Given the description of an element on the screen output the (x, y) to click on. 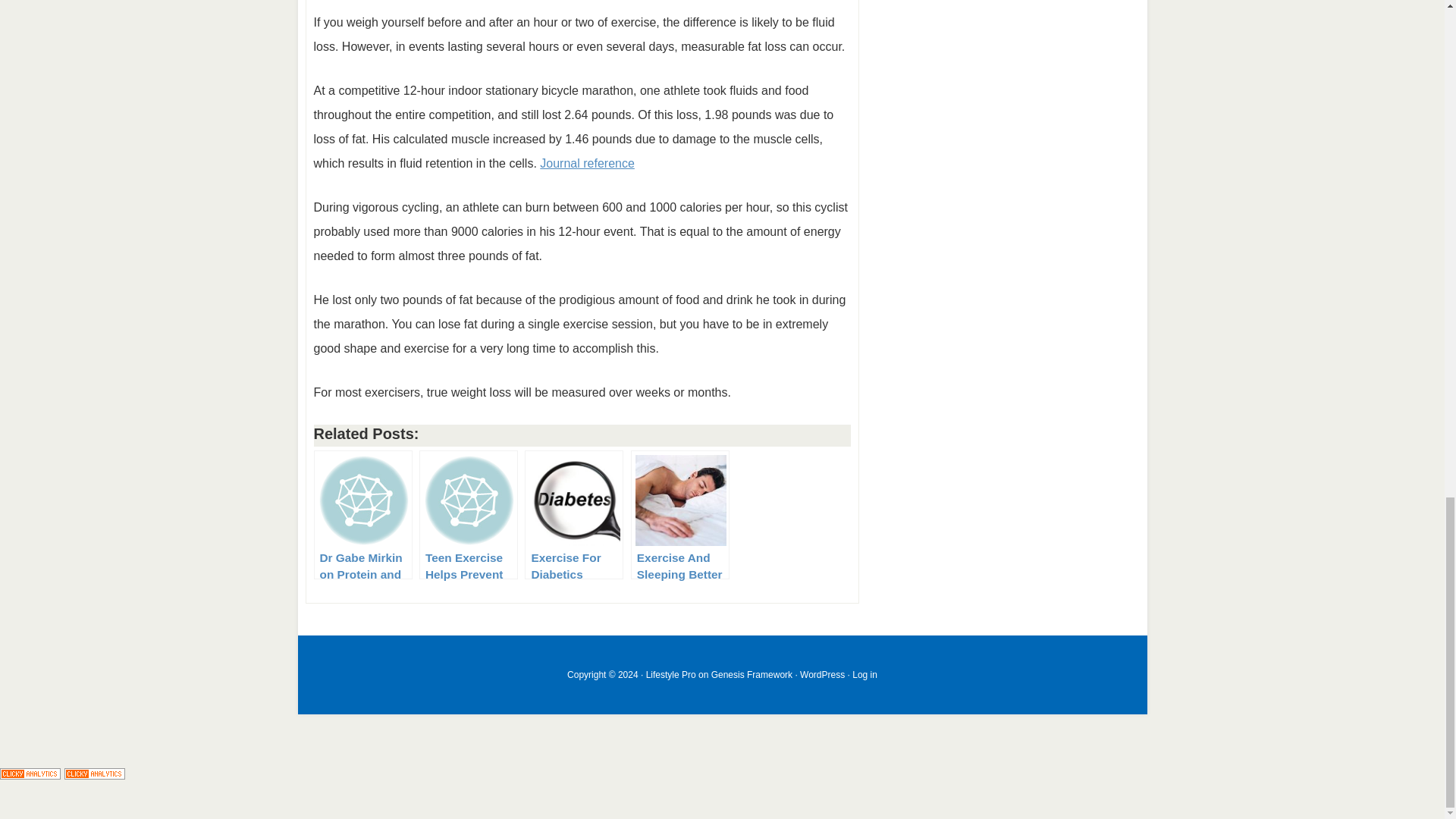
Web Statistics (94, 774)
Teen Exercise Helps Prevent Mind Problems Later in Life (468, 514)
GDPR-compliant Web Analytics (30, 774)
Dr Gabe Mirkin on Protein and exercise (363, 514)
Exercise For Diabetics (573, 514)
Exercise And Sleeping Better (679, 514)
Journal reference (587, 163)
